Given the description of an element on the screen output the (x, y) to click on. 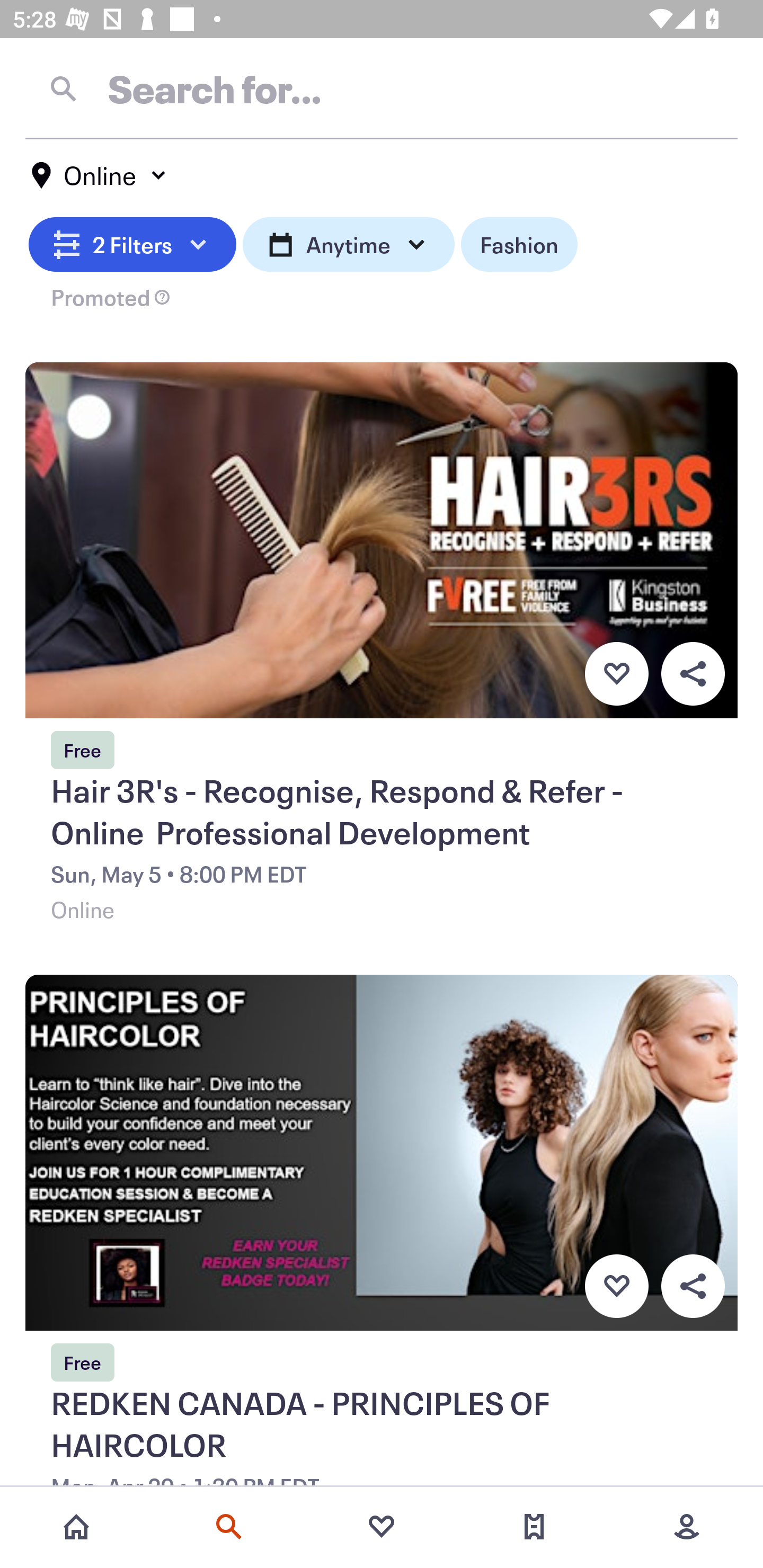
Search for… (381, 88)
Online (99, 175)
Promoted Promoted event help (381, 307)
Favorite button (616, 673)
Overflow menu button (692, 673)
Favorite button (616, 1286)
Overflow menu button (692, 1286)
Home (76, 1526)
Search events (228, 1526)
Favorites (381, 1526)
Tickets (533, 1526)
More (686, 1526)
